Given the description of an element on the screen output the (x, y) to click on. 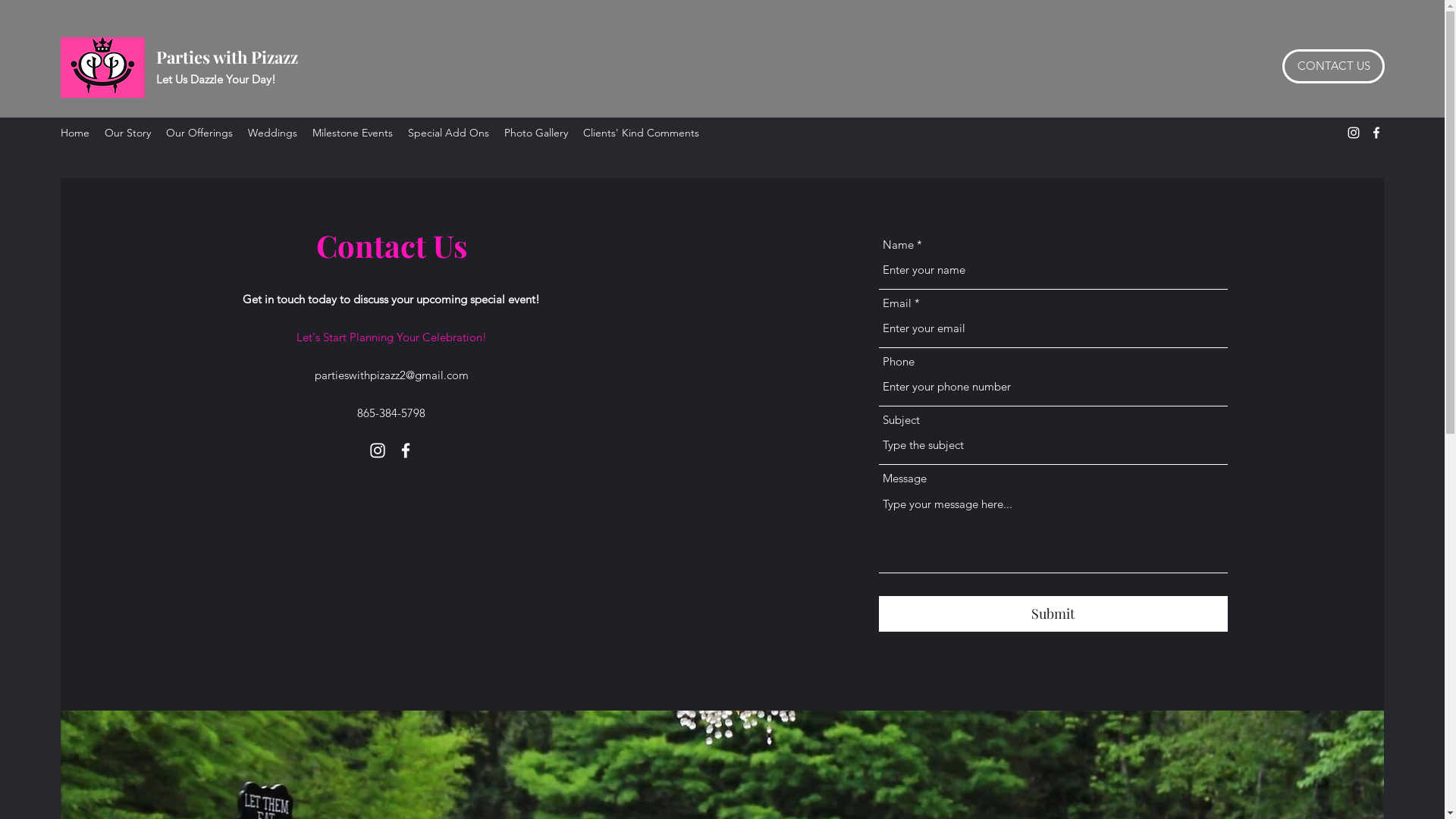
partieswithpizazz2@gmail.com Element type: text (391, 374)
Parties with Pizazz Element type: text (227, 56)
CONTACT US Element type: text (1333, 66)
Contact Us Element type: text (391, 249)
Clients' Kind Comments Element type: text (640, 132)
Special Add Ons Element type: text (448, 132)
Submit Element type: text (1052, 613)
Photo Gallery Element type: text (535, 132)
Our Story Element type: text (127, 132)
Milestone Events Element type: text (352, 132)
Our Offerings Element type: text (199, 132)
Home Element type: text (75, 132)
